Given the description of an element on the screen output the (x, y) to click on. 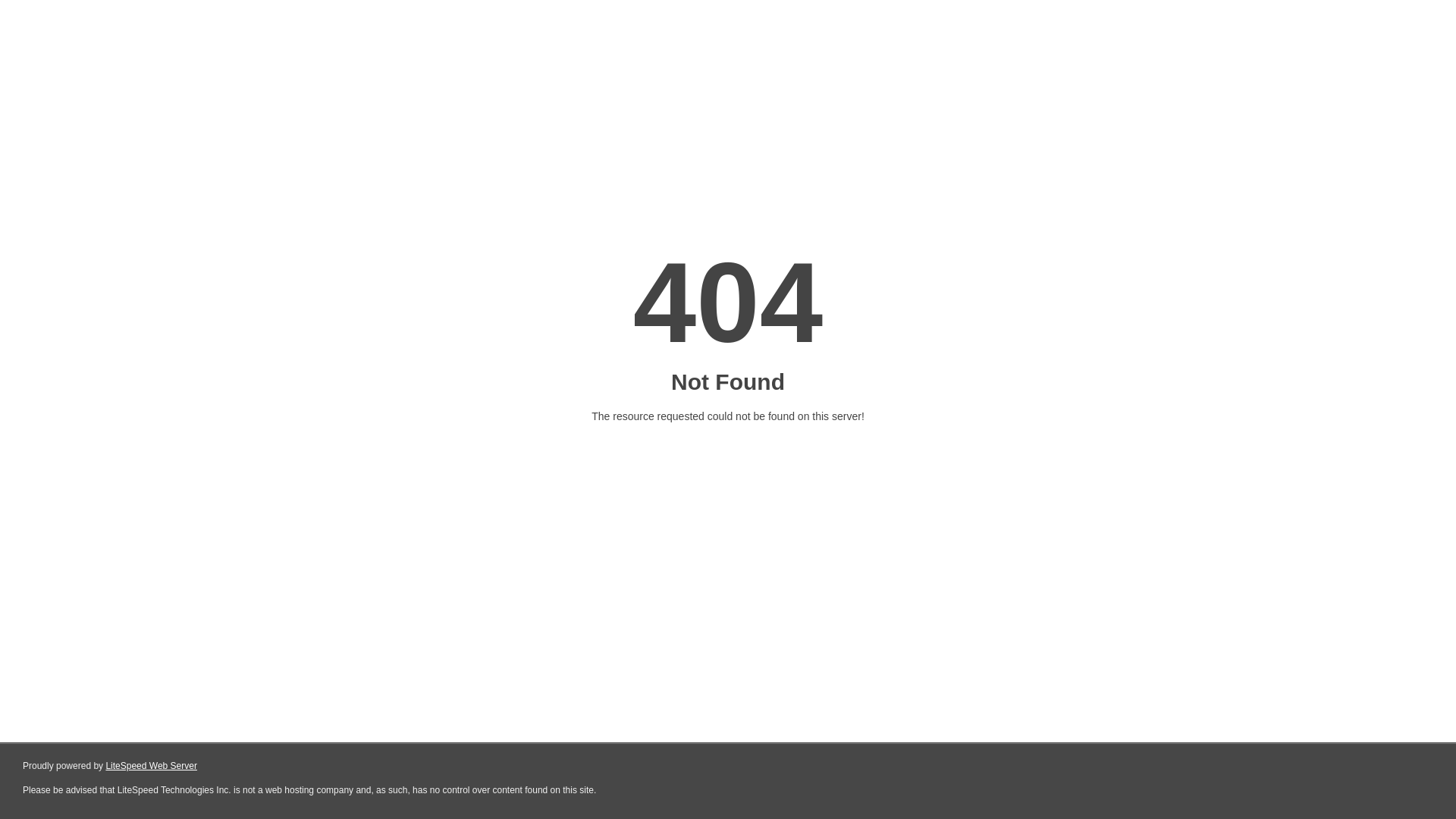
LiteSpeed Web Server Element type: text (151, 765)
